Given the description of an element on the screen output the (x, y) to click on. 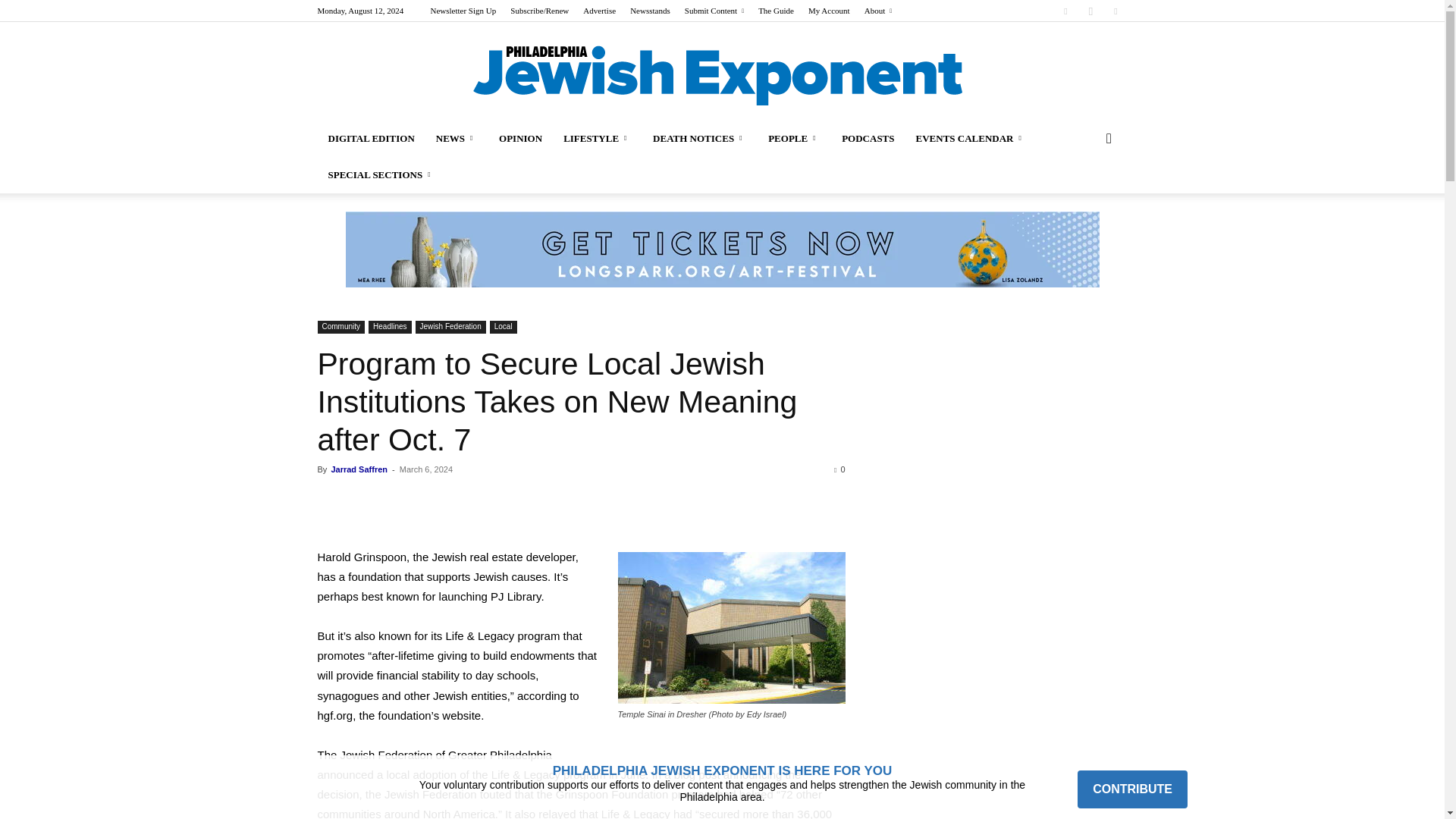
Newsletter Sign Up (462, 10)
Twitter (1114, 10)
Facebook (1065, 10)
Instagram (1090, 10)
